Given the description of an element on the screen output the (x, y) to click on. 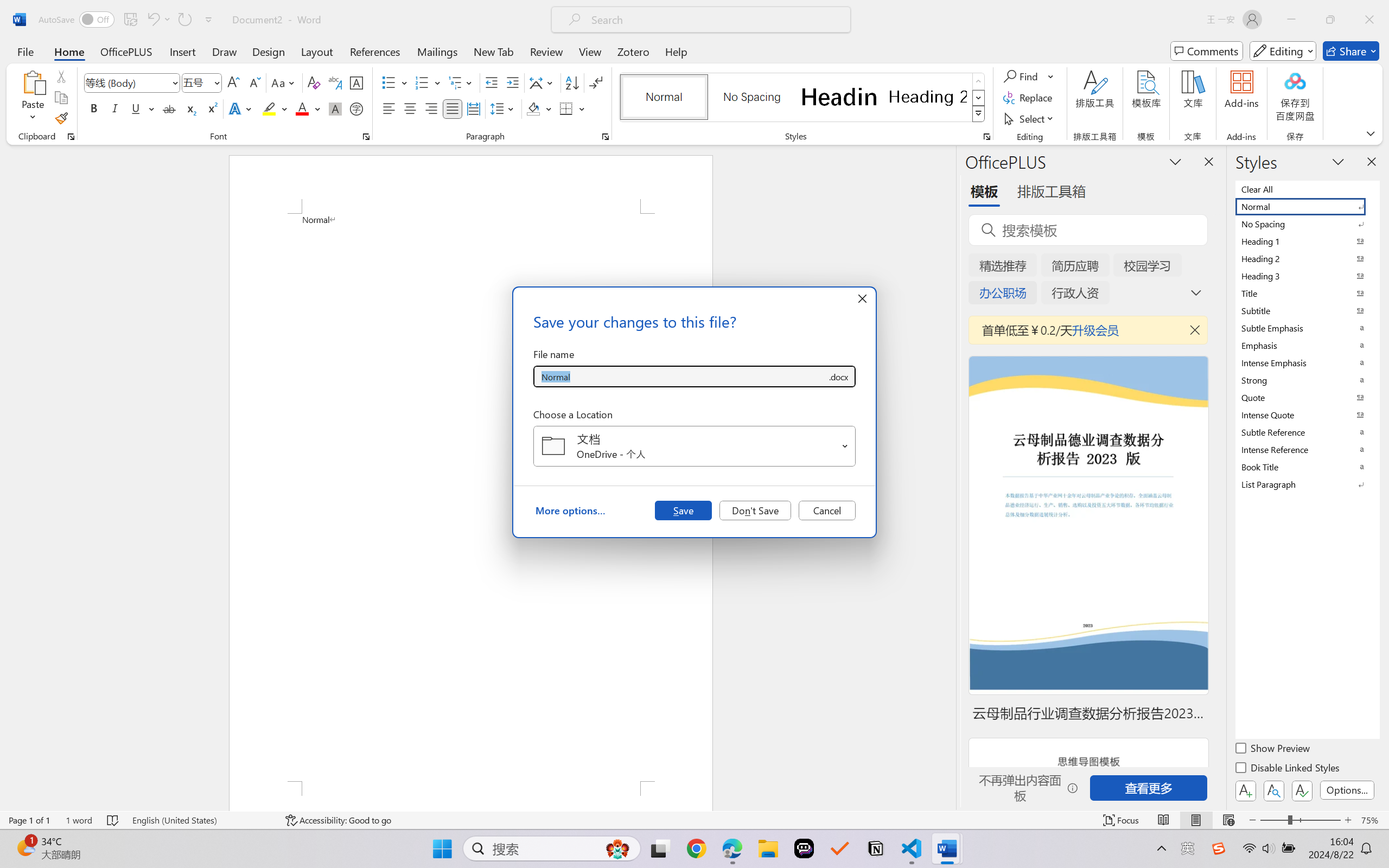
Paste (33, 97)
AutoSave (76, 19)
Show Preview (1273, 749)
More Options (1051, 75)
View (589, 51)
Styles... (986, 136)
Emphasis (1306, 345)
Clear Formatting (313, 82)
Book Title (1306, 466)
Zoom In (1348, 819)
Microsoft search (715, 19)
